Given the description of an element on the screen output the (x, y) to click on. 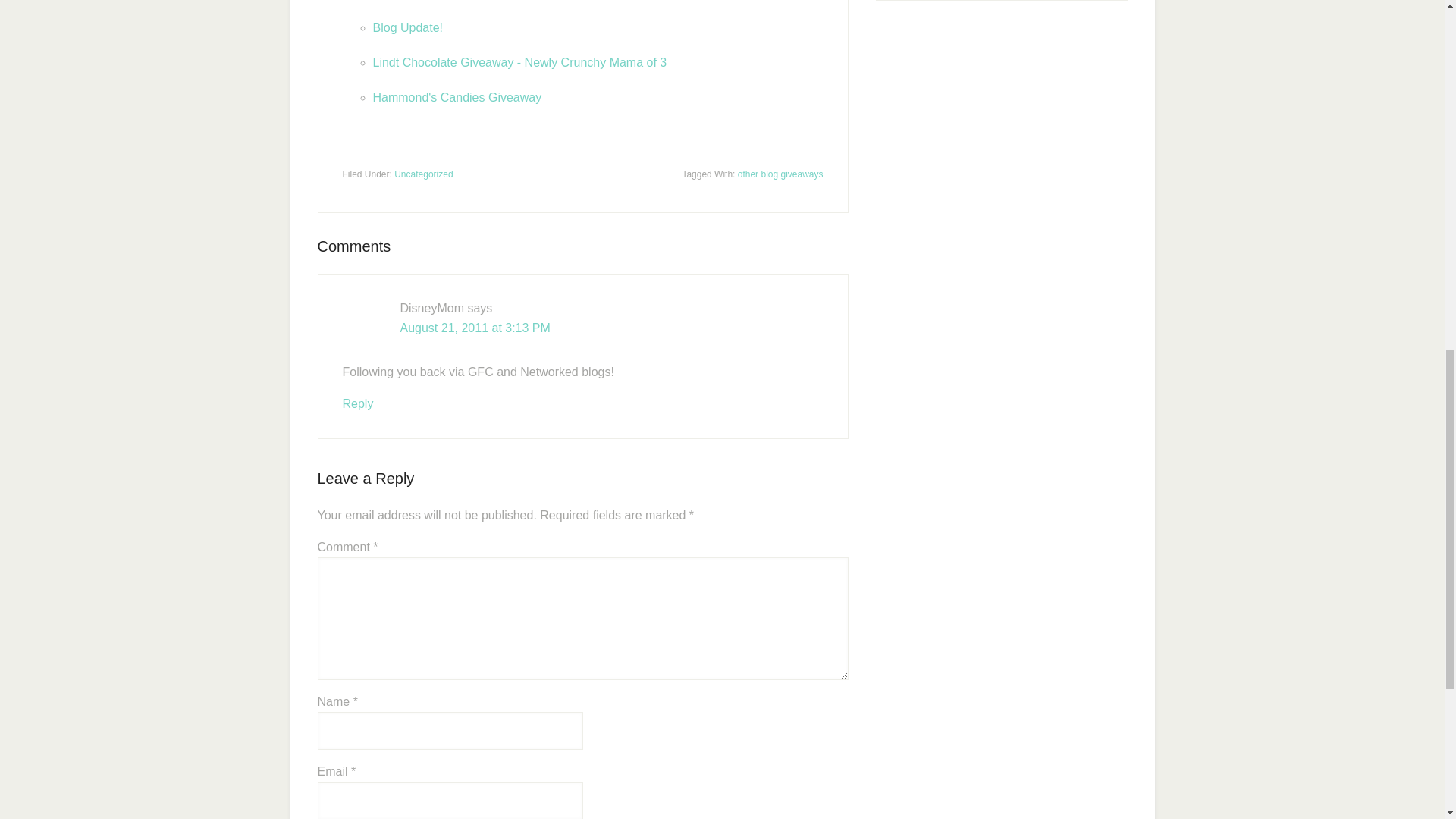
Blog Update! (408, 27)
August 21, 2011 at 3:13 PM (475, 327)
Reply (358, 403)
Lindt Chocolate Giveaway - Newly Crunchy Mama of 3 (519, 62)
Hammond's Candies Giveaway (456, 97)
other blog giveaways (781, 173)
Uncategorized (423, 173)
